Given the description of an element on the screen output the (x, y) to click on. 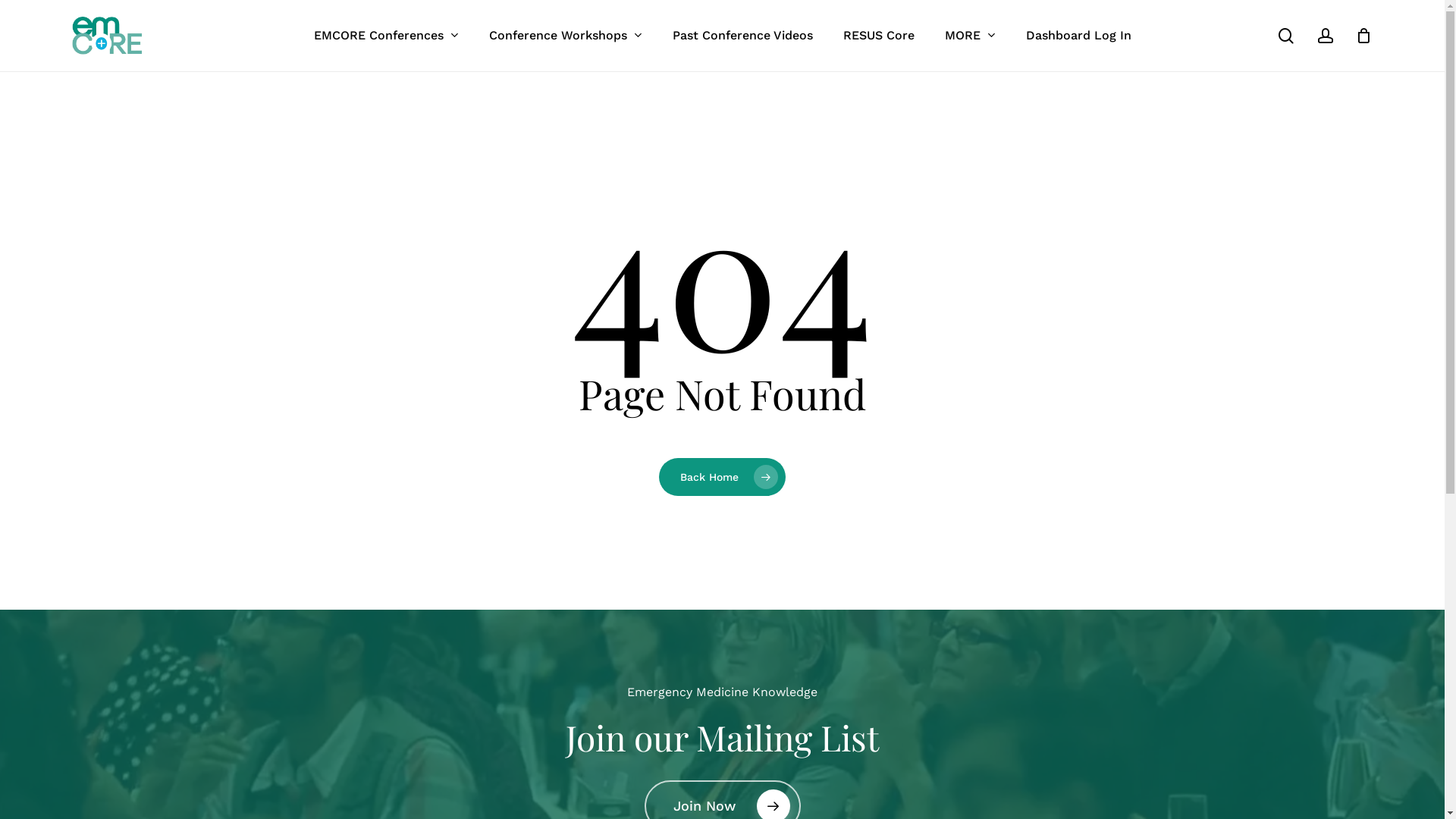
Conference Workshops Element type: text (564, 34)
account Element type: text (1325, 35)
search Element type: text (1286, 35)
Dashboard Log In Element type: text (1077, 35)
MORE Element type: text (969, 34)
EMCORE Conferences Element type: text (385, 34)
Back Home Element type: text (721, 476)
RESUS Core Element type: text (878, 35)
Past Conference Videos Element type: text (741, 35)
